Given the description of an element on the screen output the (x, y) to click on. 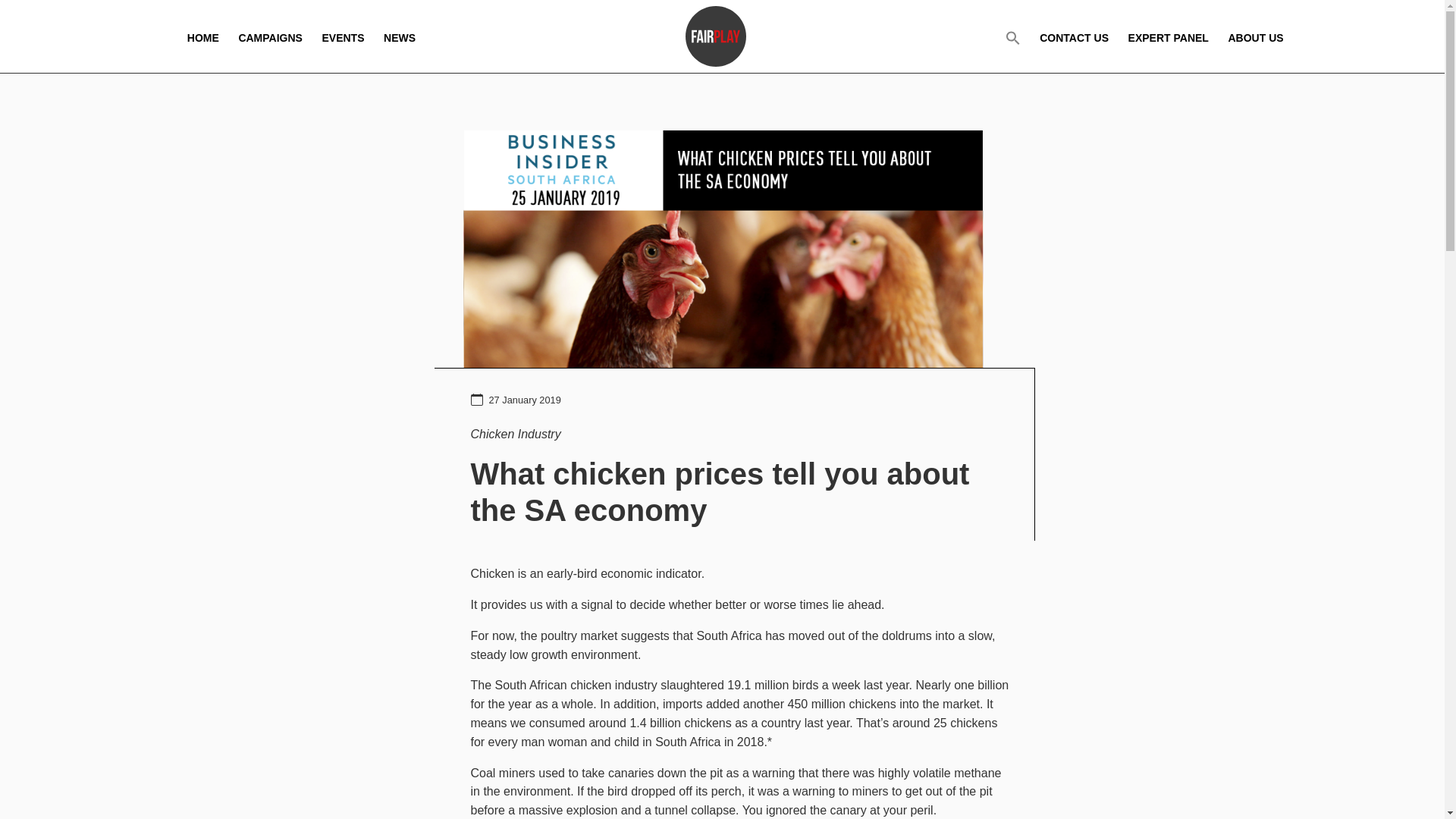
CONTACT US (1073, 36)
EVENTS (342, 36)
EXPERT PANEL (1168, 36)
HOME (203, 36)
NEWS (399, 36)
ABOUT US (1254, 36)
CAMPAIGNS (270, 36)
